Given the description of an element on the screen output the (x, y) to click on. 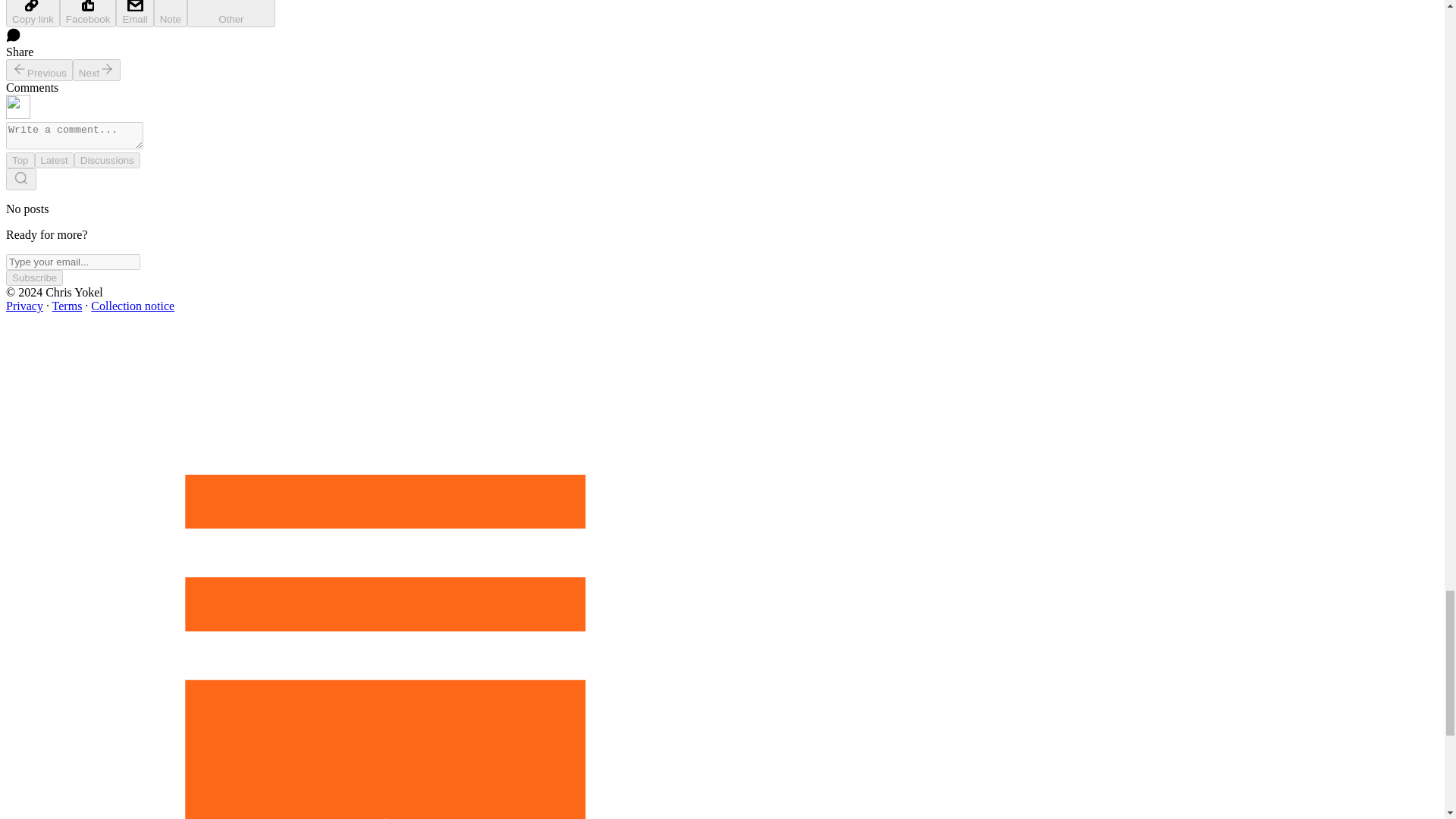
Copy link (32, 13)
Note (170, 13)
Facebook (87, 13)
Email (134, 13)
